Given the description of an element on the screen output the (x, y) to click on. 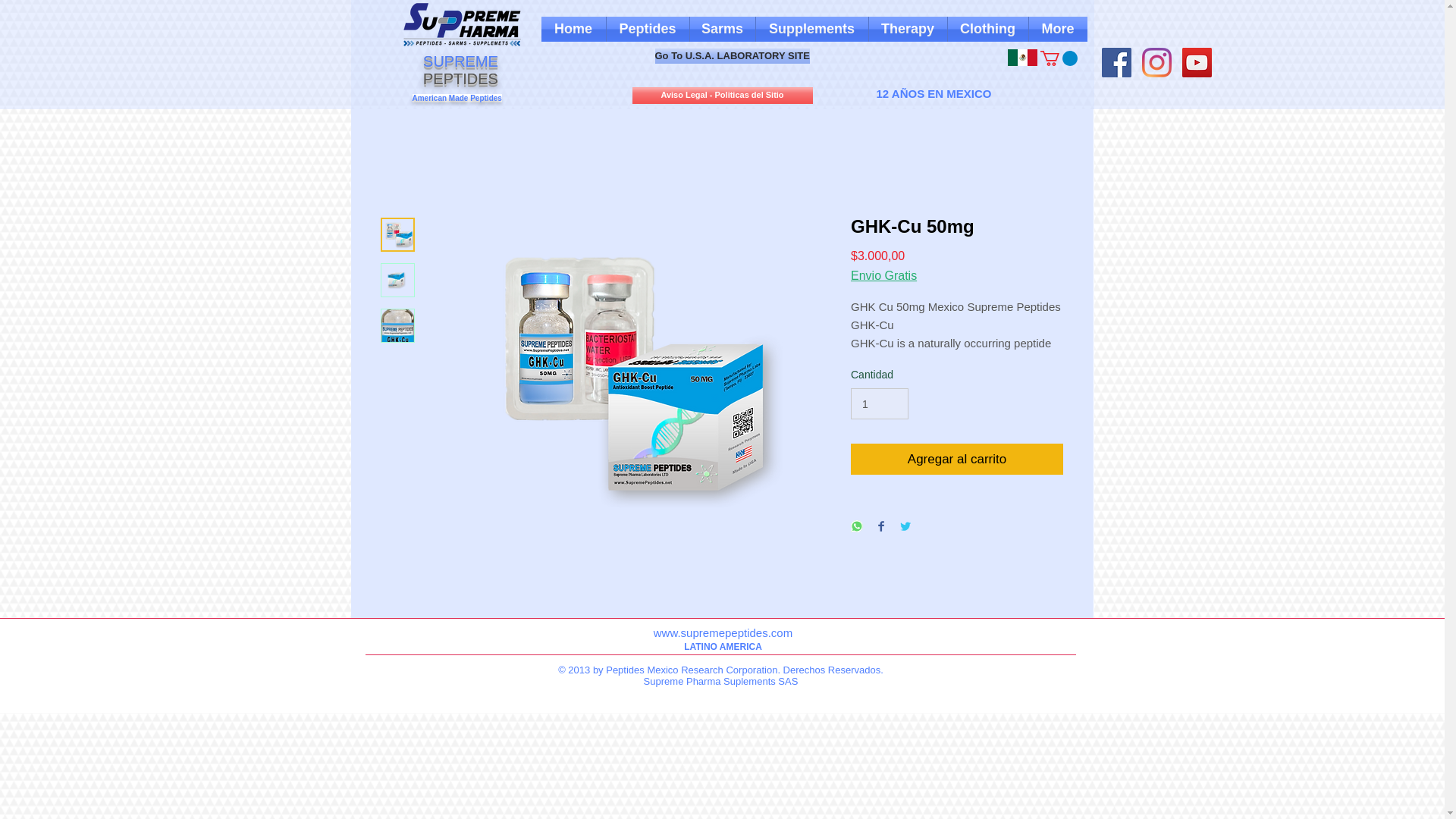
Peptides (647, 28)
Home (573, 28)
Sarms (722, 28)
www.supremepeptides.com (722, 632)
Agregar al carrito (956, 459)
Clothing (987, 28)
SUPREME PEPTIDES (460, 69)
Supplements (811, 28)
Therapy (908, 28)
Me Gusta de Facebook (937, 58)
